Given the description of an element on the screen output the (x, y) to click on. 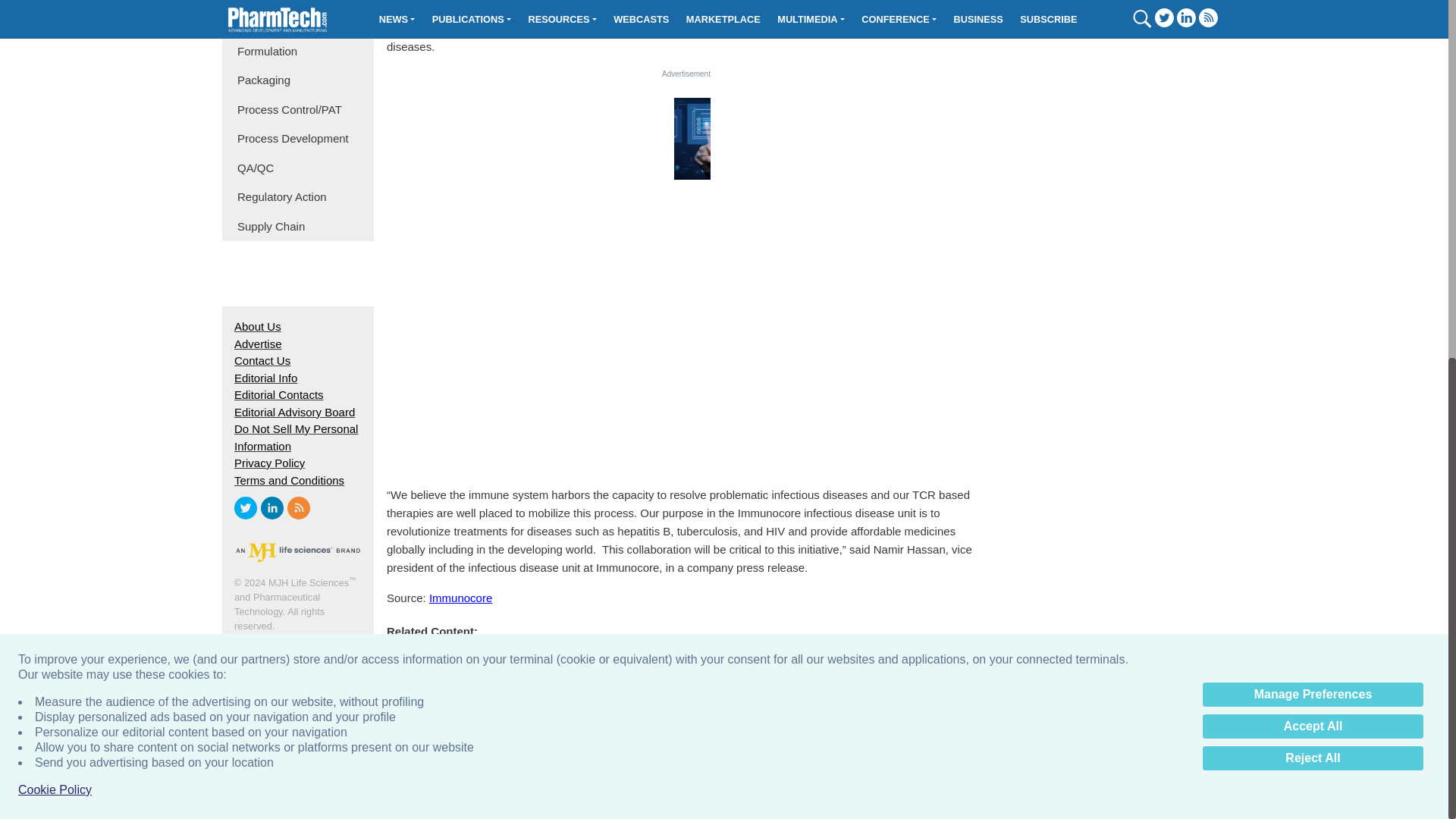
Cookie Policy (54, 154)
3rd party ad content (724, 149)
Manage Preferences (1312, 58)
Accept All (1312, 90)
3rd party ad content (686, 276)
Reject All (1312, 122)
